Given the description of an element on the screen output the (x, y) to click on. 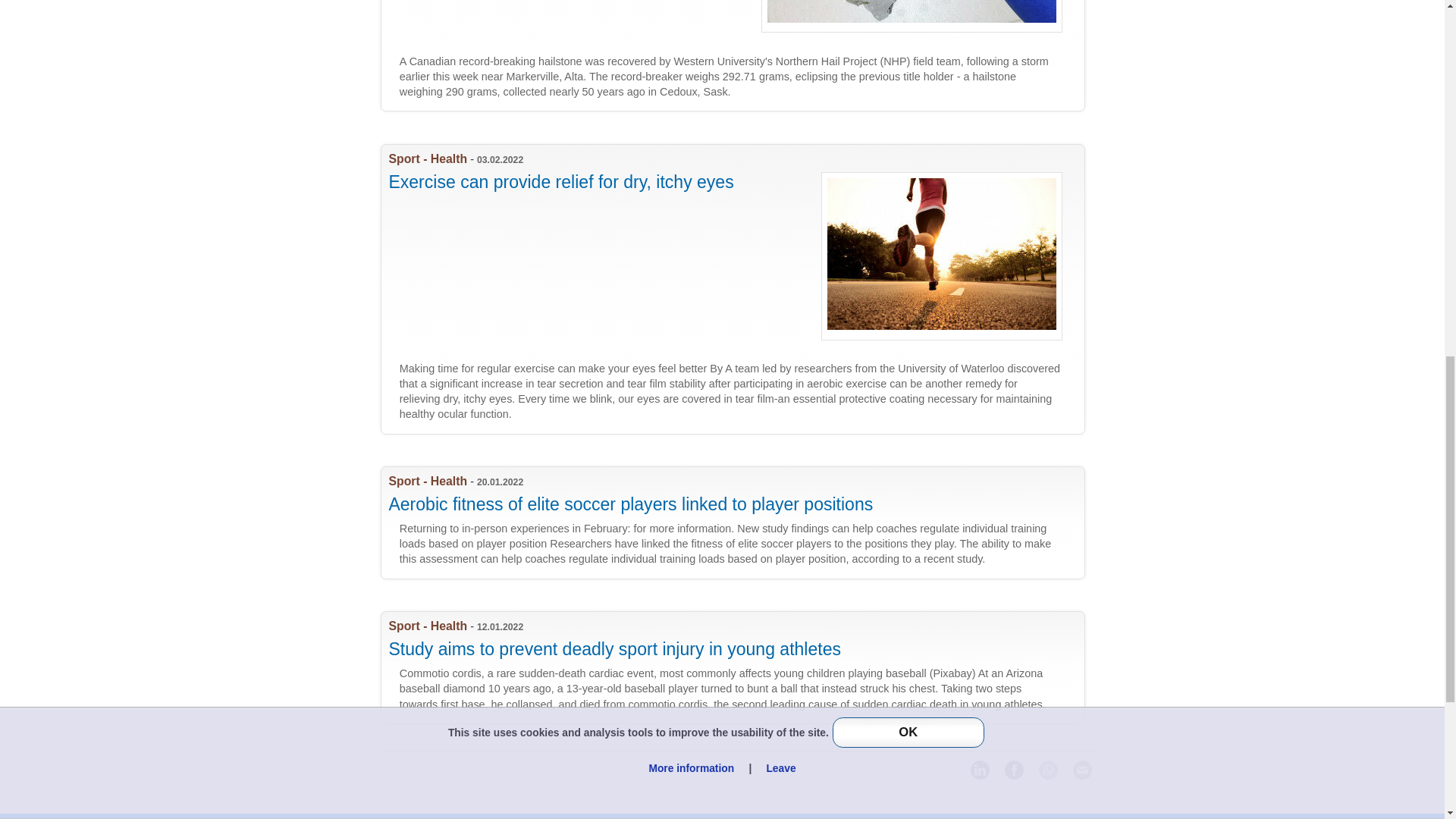
WATERLOO (738, 522)
Share on WhatsApp Web (1047, 770)
Share on Facebook (1014, 770)
UWO (738, 55)
Share on LinkedIn (980, 770)
UWO (738, 666)
